Given the description of an element on the screen output the (x, y) to click on. 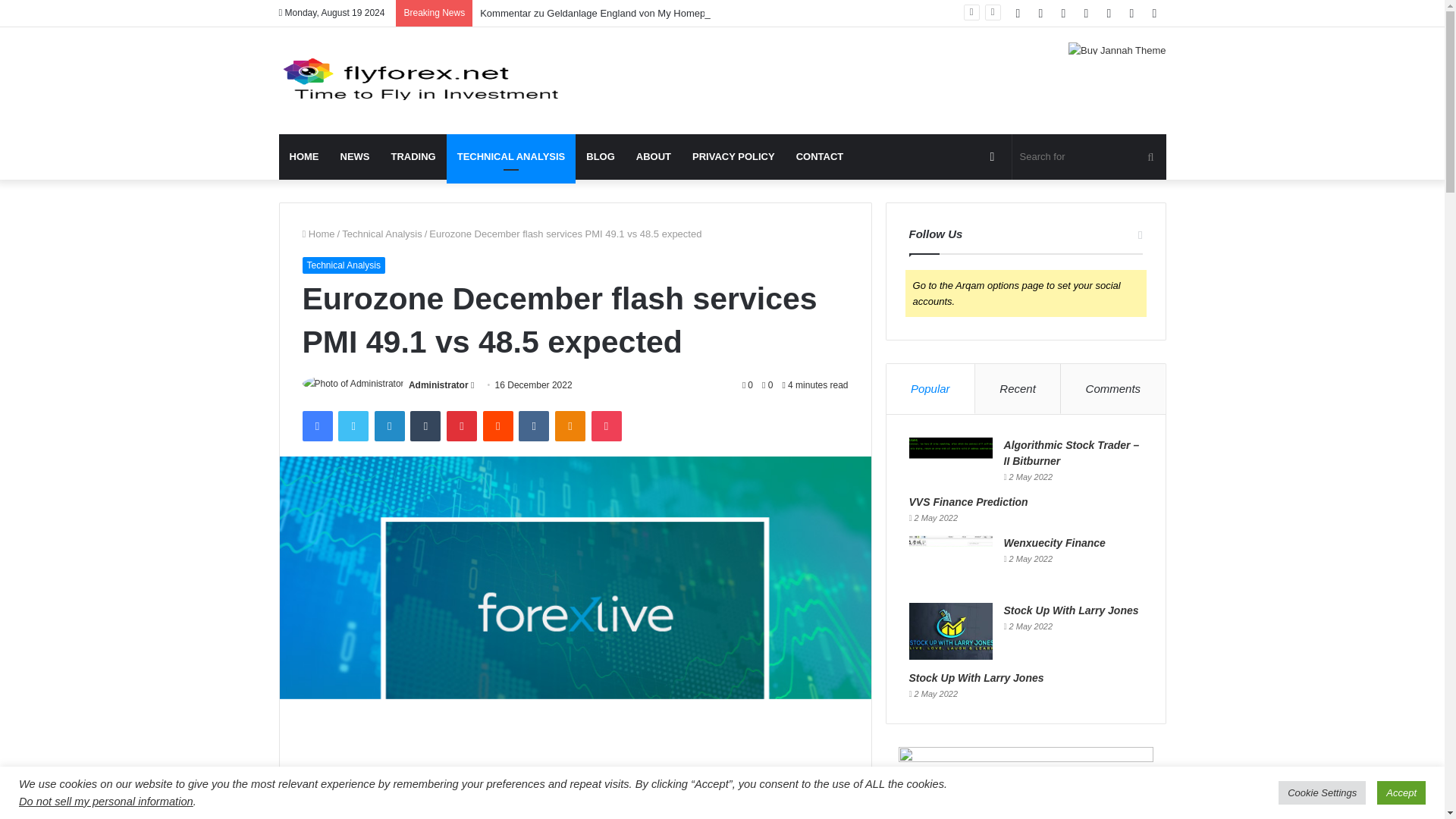
Fly Forex - flyforex.net (419, 80)
Facebook (316, 426)
Twitter (352, 426)
CONTACT (820, 156)
Tumblr (425, 426)
ABOUT (653, 156)
TECHNICAL ANALYSIS (511, 156)
Home (317, 233)
Pinterest (461, 426)
Search for (1088, 156)
